Given the description of an element on the screen output the (x, y) to click on. 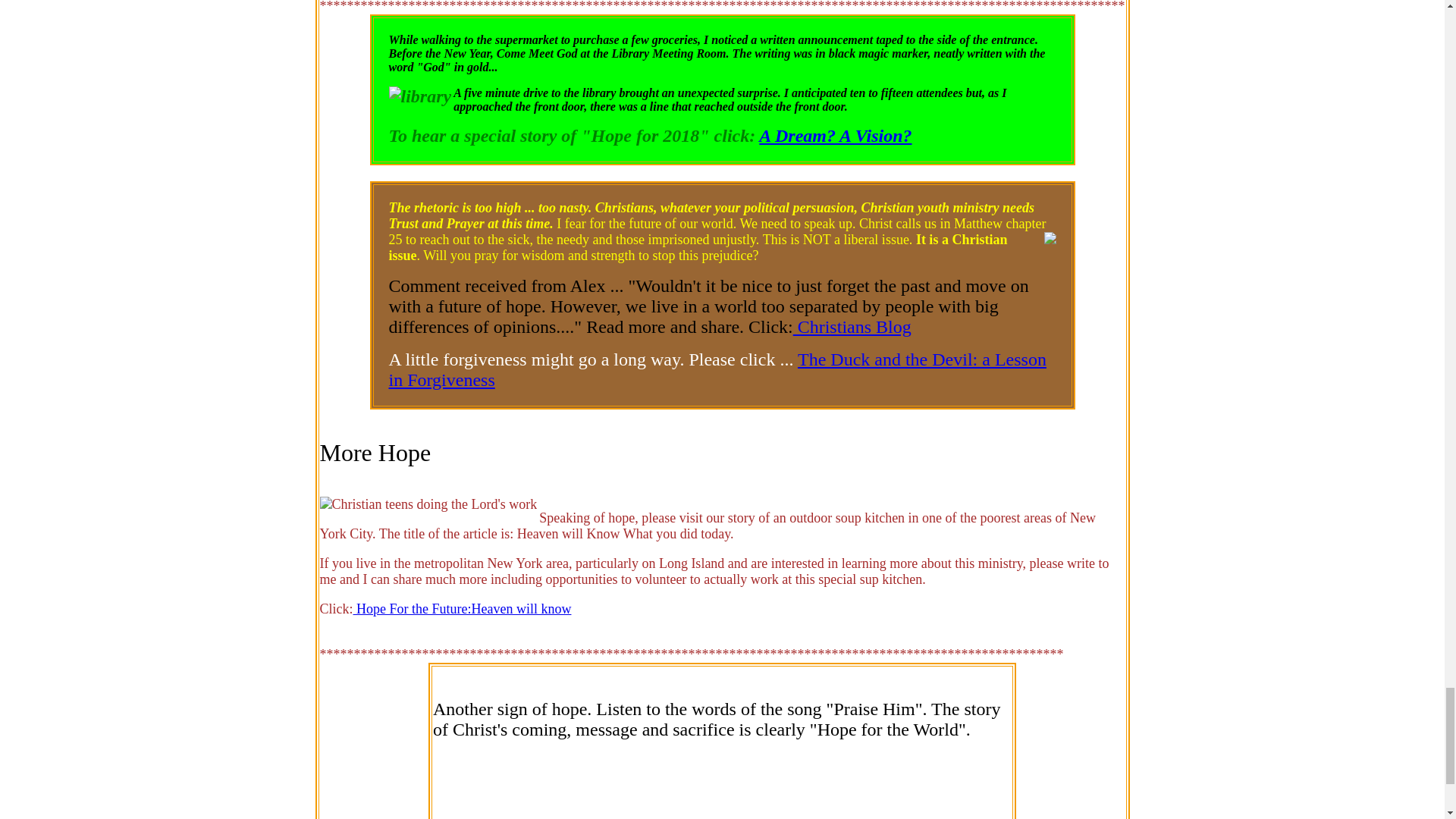
Christians Blog (852, 326)
A Dream? A Vision? (834, 135)
Hope For the Future:Heaven will know (462, 608)
The Duck and the Devil: a Lesson in Forgiveness (716, 369)
